Given the description of an element on the screen output the (x, y) to click on. 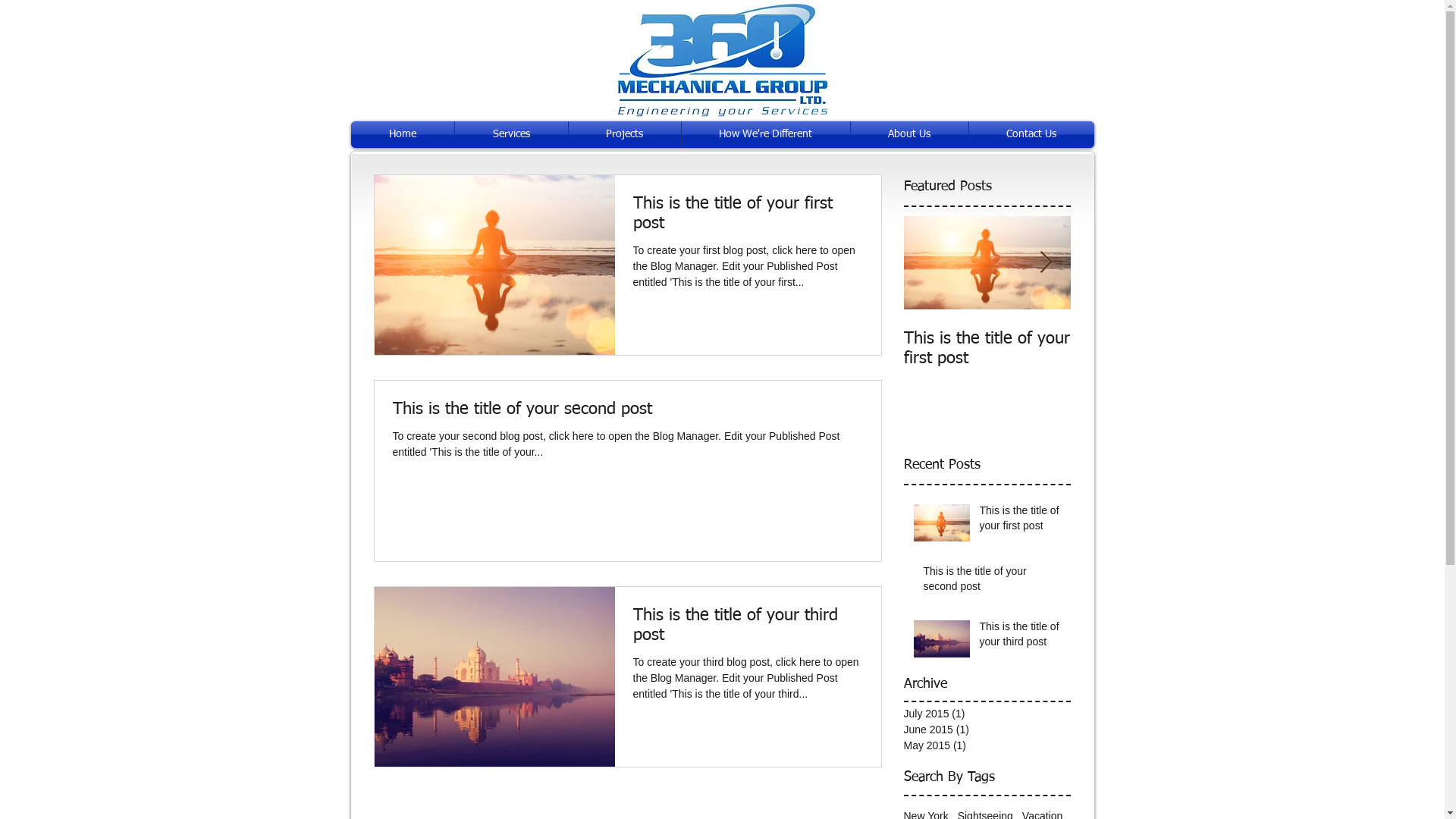
This is the title of your second post Element type: text (627, 413)
This is the title of your second post Element type: text (992, 581)
This is the title of your third post Element type: text (1020, 637)
Projects Element type: text (624, 134)
This is the title of your third post Element type: text (747, 629)
Home Element type: text (401, 134)
This is the title of your first post Element type: text (986, 348)
May 2015 (1) Element type: text (983, 745)
This is the title of your second post Element type: text (1153, 348)
Services Element type: text (511, 134)
About Us Element type: text (909, 134)
June 2015 (1) Element type: text (983, 729)
Contact Us Element type: text (1031, 134)
This is the title of your first post Element type: text (747, 217)
How We're Different Element type: text (764, 134)
July 2015 (1) Element type: text (983, 713)
This is the title of your first post Element type: text (1020, 521)
